Given the description of an element on the screen output the (x, y) to click on. 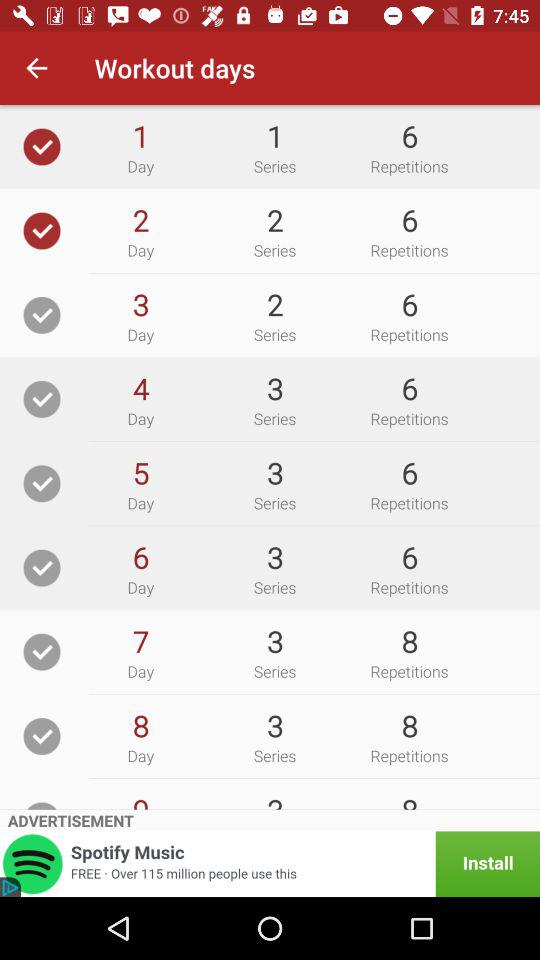
select this (41, 736)
